Given the description of an element on the screen output the (x, y) to click on. 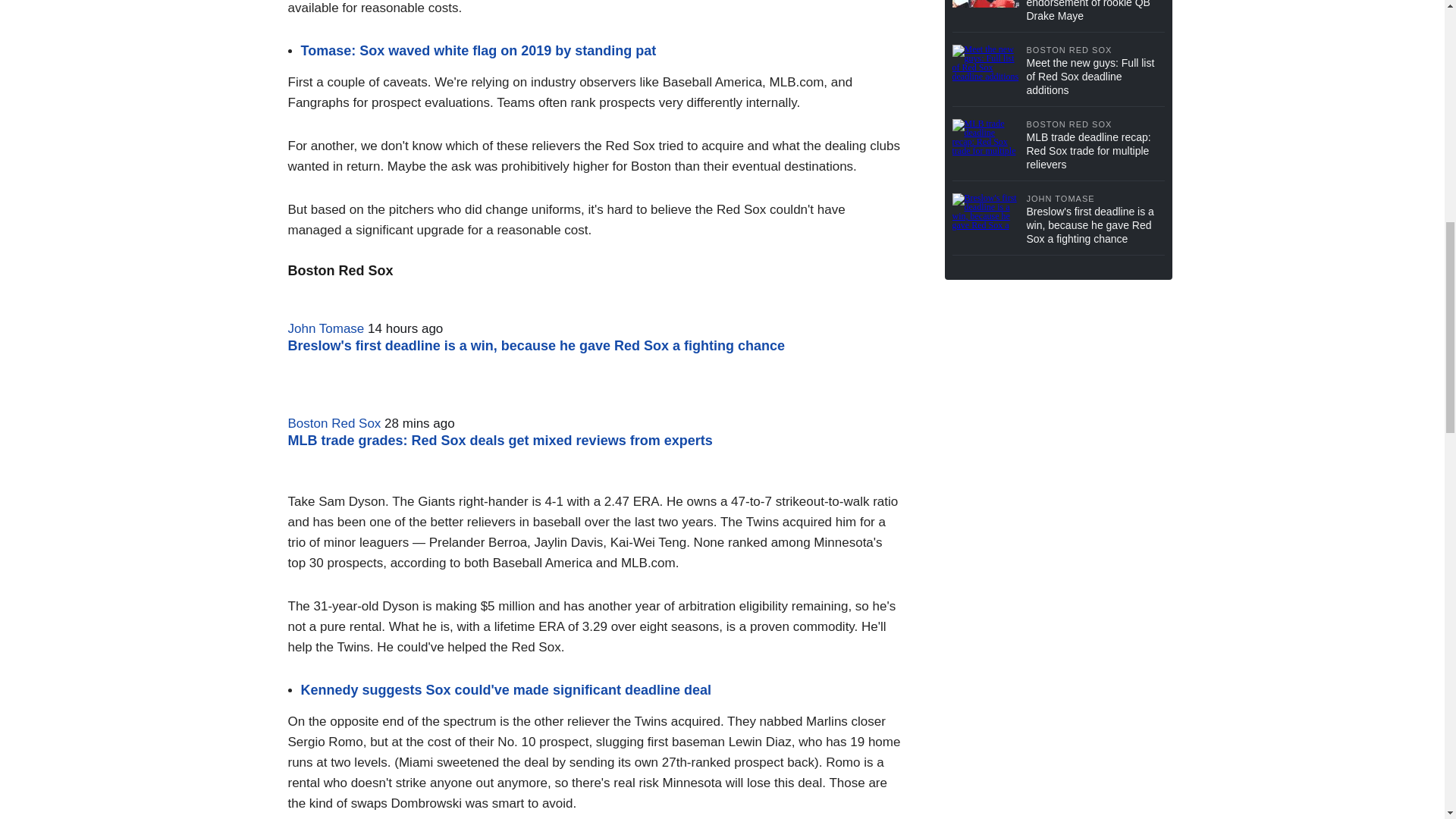
Tomase: Sox waved white flag on 2019 by standing pat (477, 50)
BOSTON RED SOX (1095, 124)
Boston Red Sox (334, 423)
BOSTON RED SOX (1095, 50)
Meet the new guys: Full list of Red Sox deadline additions (1095, 76)
John Tomase (326, 328)
Kennedy suggests Sox could've made significant deadline deal (504, 689)
